Given the description of an element on the screen output the (x, y) to click on. 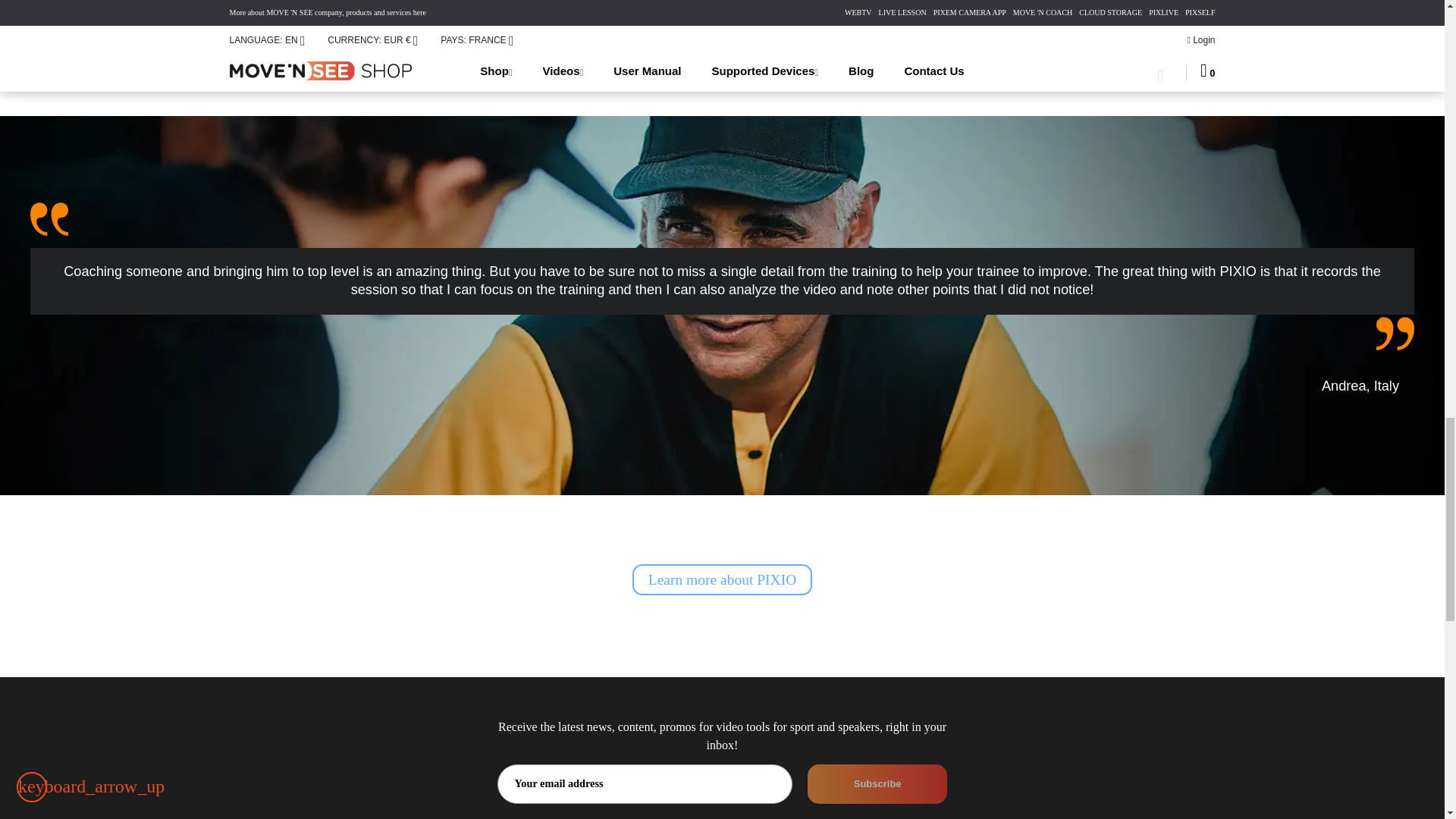
 Subscribe     (877, 783)
